Given the description of an element on the screen output the (x, y) to click on. 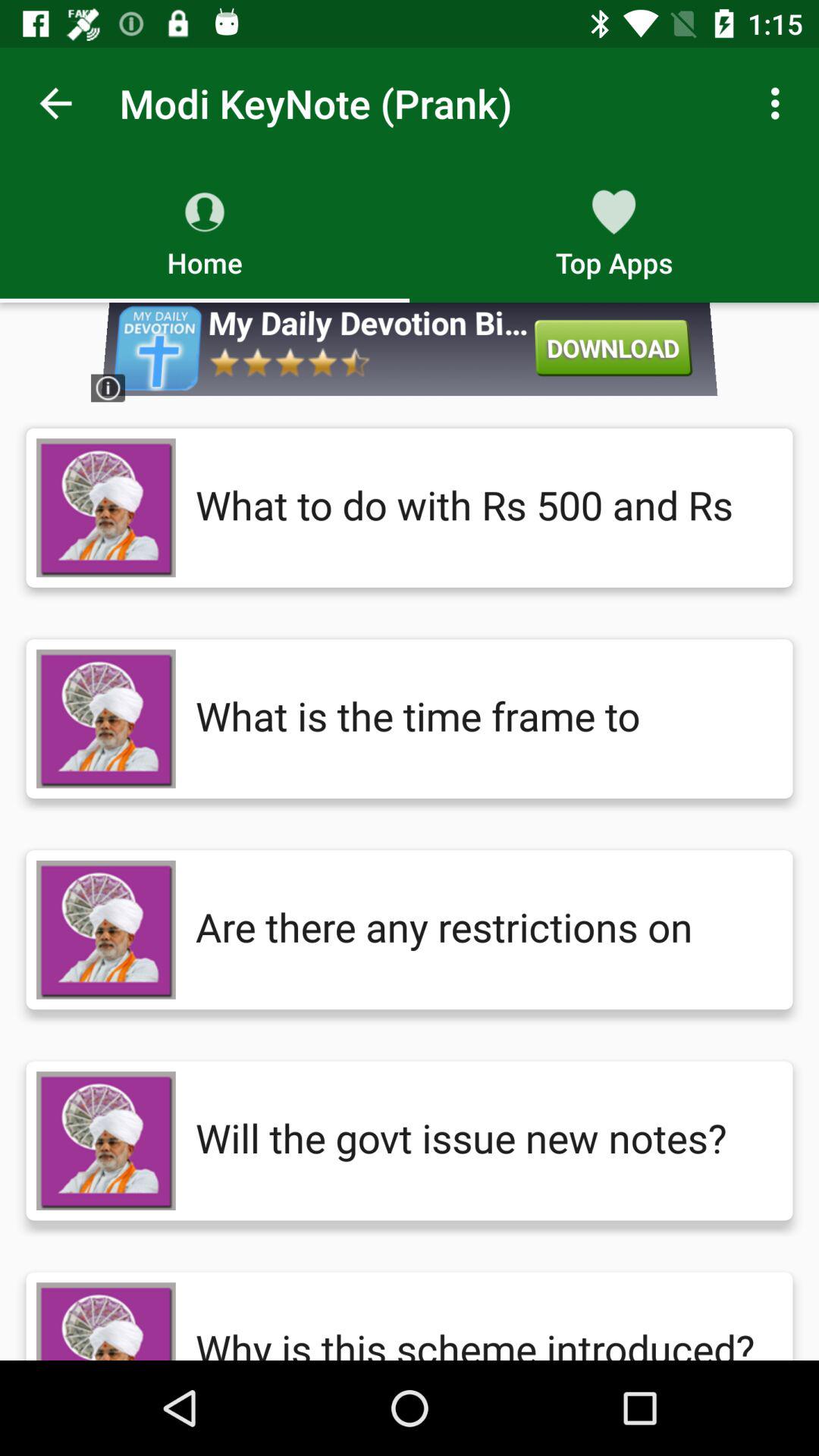
open the app next to the modi keynote (prank) icon (779, 103)
